Given the description of an element on the screen output the (x, y) to click on. 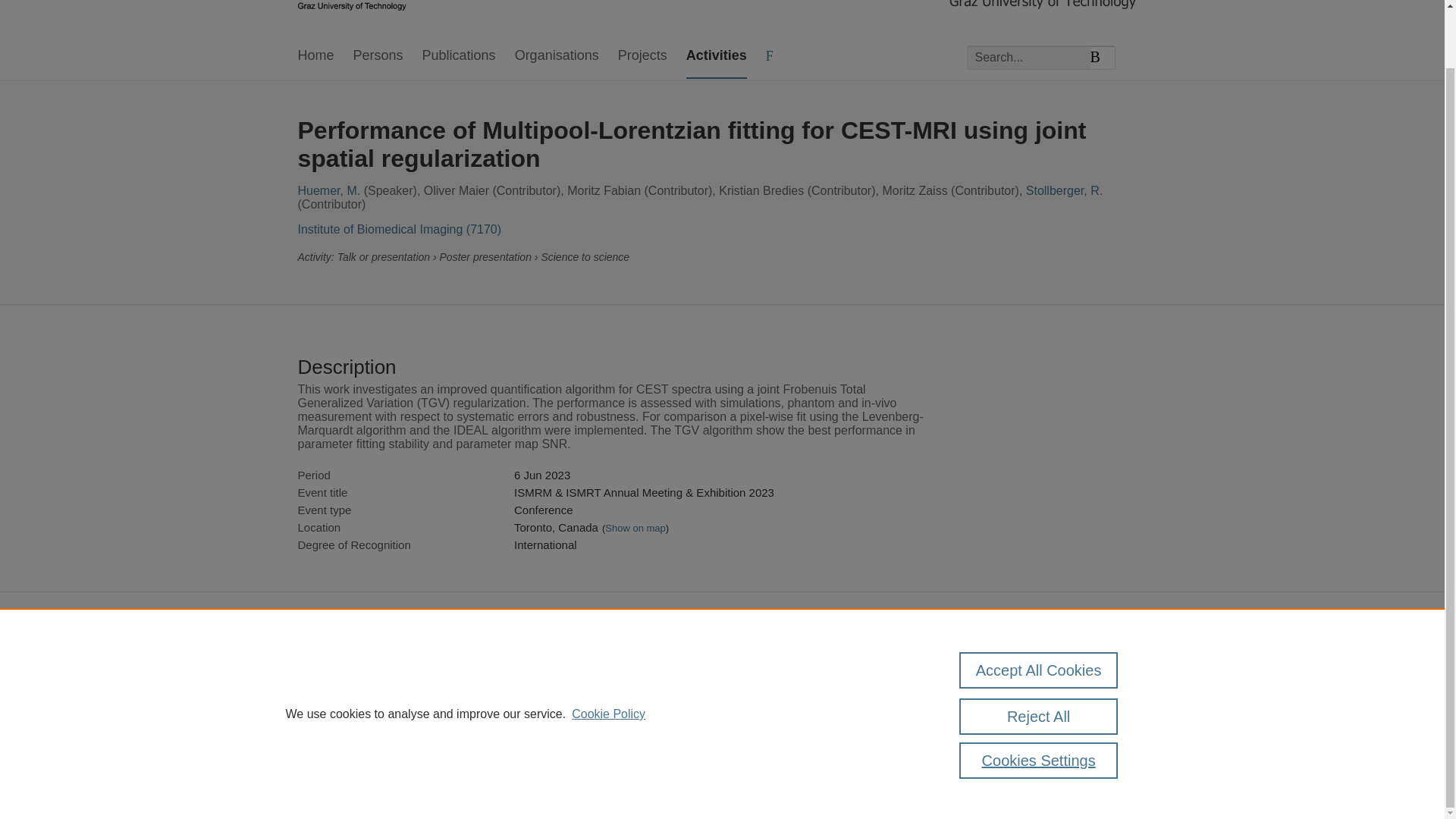
Organisations (556, 56)
About web accessibility (1046, 699)
Persons (378, 56)
Stollberger, R. (1064, 190)
Activities (715, 56)
Accept All Cookies (1038, 606)
Graz University of Technology data protection policy (1060, 672)
Scopus (394, 667)
Show on map (635, 527)
Huemer, M. (328, 190)
Pure (362, 667)
Graz University of Technology Home (351, 6)
use of cookies (796, 719)
Publications (459, 56)
Reject All (1038, 653)
